Given the description of an element on the screen output the (x, y) to click on. 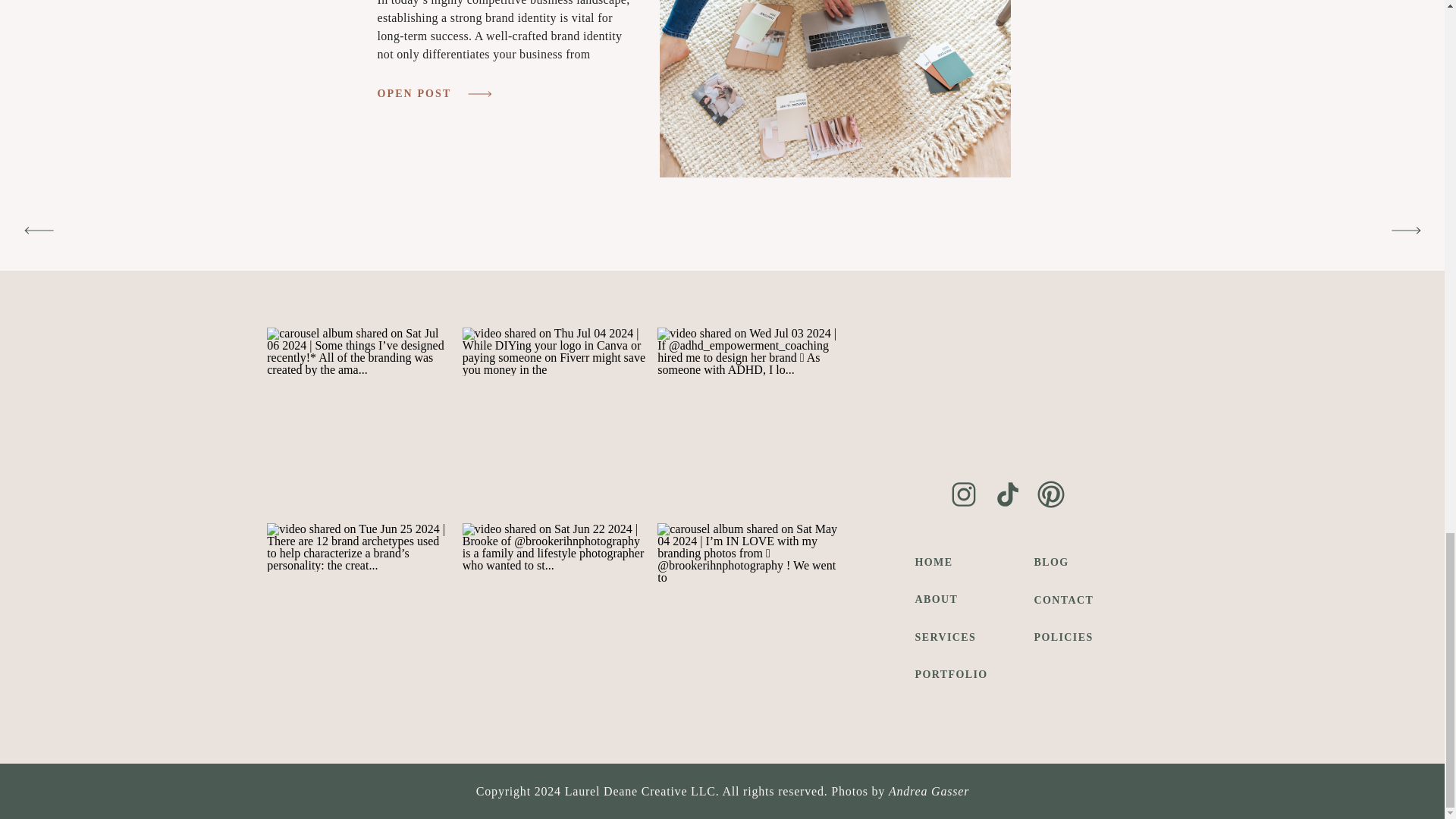
PORTFOLIO (957, 674)
POLICIES (1066, 637)
HOME (957, 561)
ABOUT (957, 599)
SERVICES (957, 637)
CONTACT (1066, 599)
OPEN POST (420, 93)
BLOG (1066, 561)
